Given the description of an element on the screen output the (x, y) to click on. 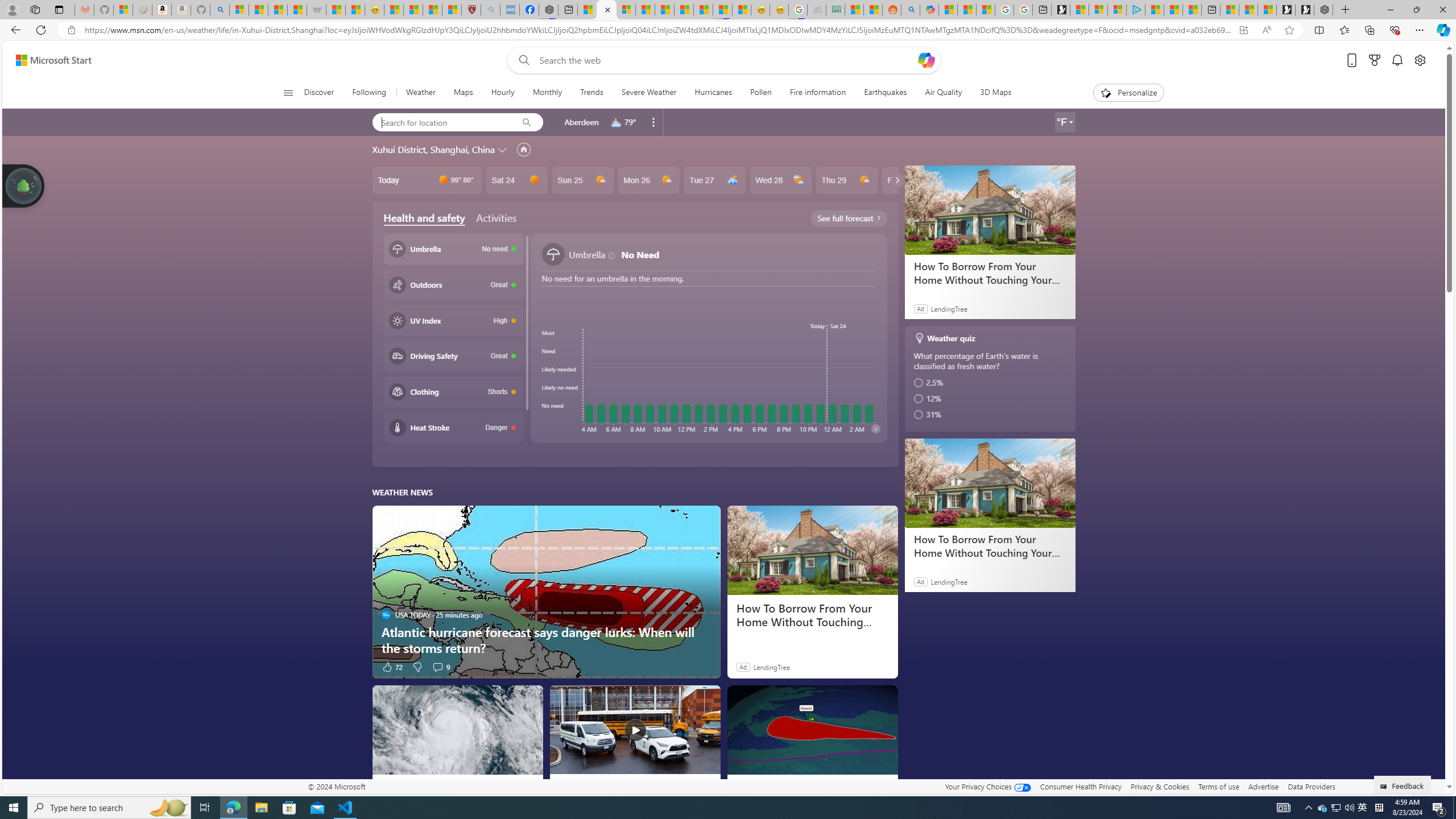
Hurricanes (713, 92)
Sat 24 (516, 180)
Sun 25 (581, 180)
12% (990, 398)
Activities (496, 217)
